Given the description of an element on the screen output the (x, y) to click on. 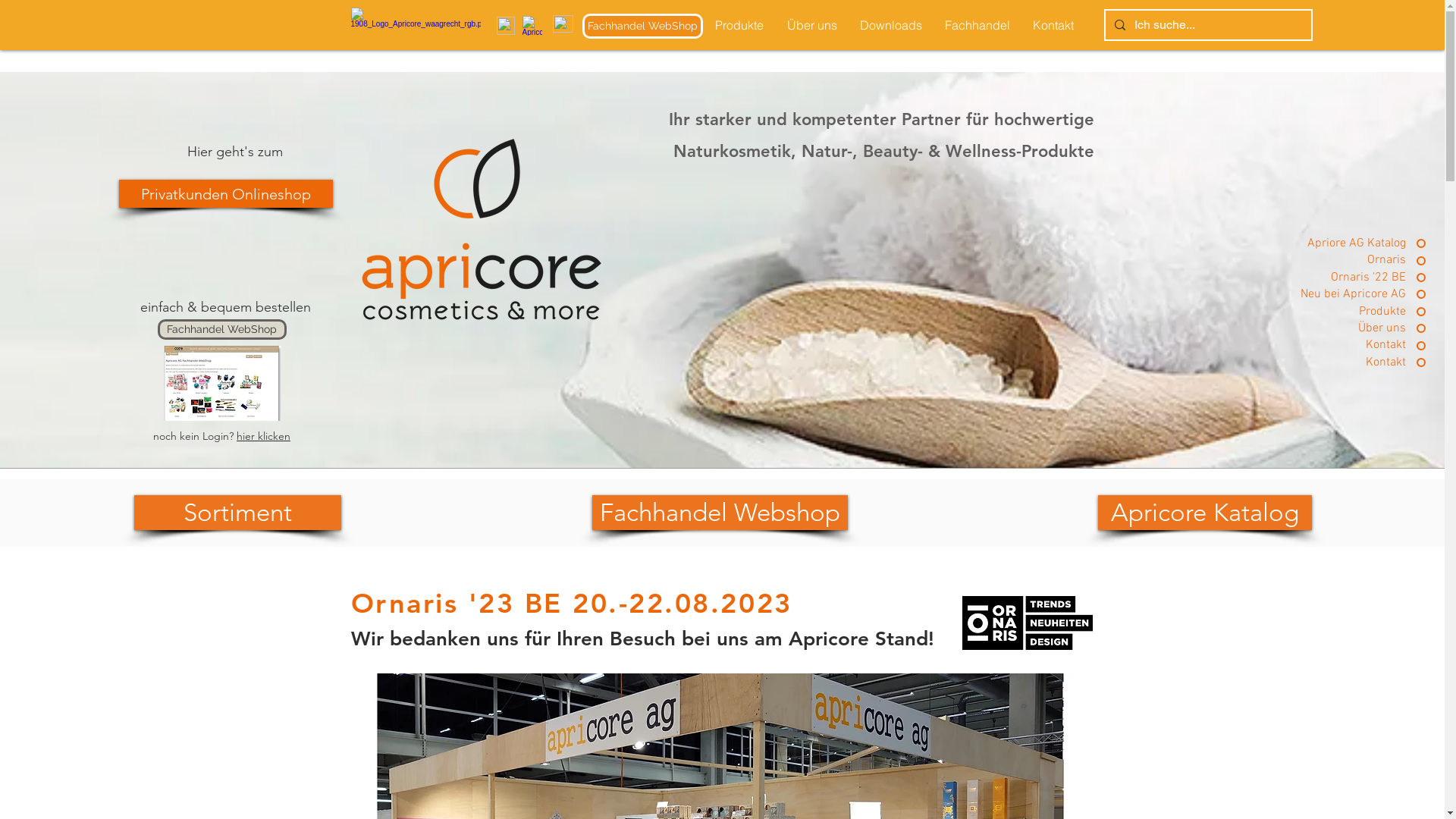
Apriore AG Katalog Element type: text (1344, 243)
 Fachhandel Webshop  Element type: text (719, 512)
Downloads Element type: text (889, 25)
folgen Sie uns auf Instagram Element type: hover (531, 25)
Fachhandel WebShop Element type: text (221, 329)
Folgen Sie uns auf Facebook Element type: hover (504, 25)
Produkte Element type: text (1344, 311)
Ornaris '22 BE Element type: text (1344, 277)
hier klicken Element type: text (263, 435)
Fachhandel WebShop Element type: text (642, 25)
 Sortiment  Element type: text (237, 512)
Ornaris Element type: text (1344, 259)
Startseite Element type: hover (562, 23)
 Apricore Katalog  Element type: text (1204, 512)
Kontakt Element type: text (1344, 344)
Privatkunden Onlineshop Element type: text (225, 193)
Neu bei Apricore AG Element type: text (1344, 293)
direkt zum Fachhandel WebShop Element type: hover (222, 382)
Kontakt Element type: text (1344, 362)
Kontakt Element type: text (1052, 25)
